Given the description of an element on the screen output the (x, y) to click on. 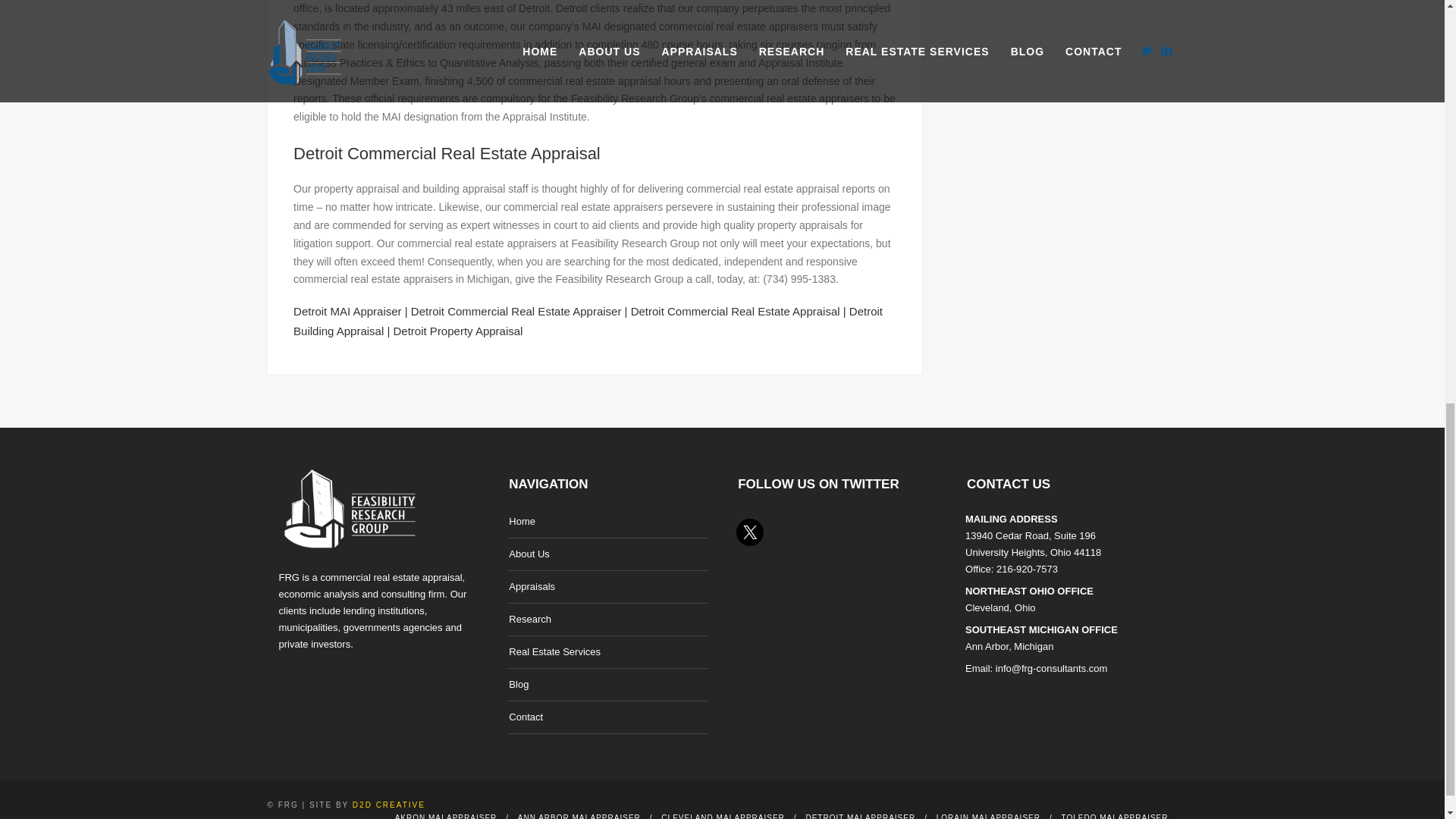
X (749, 532)
CLEVELAND MAI APPRAISER (722, 816)
Real Estate Services (553, 651)
AKRON MAI APPRAISER (445, 816)
DETROIT MAI APPRAISER (860, 816)
Research (529, 618)
About Us (528, 553)
ANN ARBOR MAI APPRAISER (579, 816)
Appraisals (531, 586)
Contact (525, 716)
TOLEDO MAI APPRAISER (1115, 816)
Blog (518, 683)
LORAIN MAI APPRAISER (988, 816)
Home (521, 520)
D2D CREATIVE (388, 804)
